Given the description of an element on the screen output the (x, y) to click on. 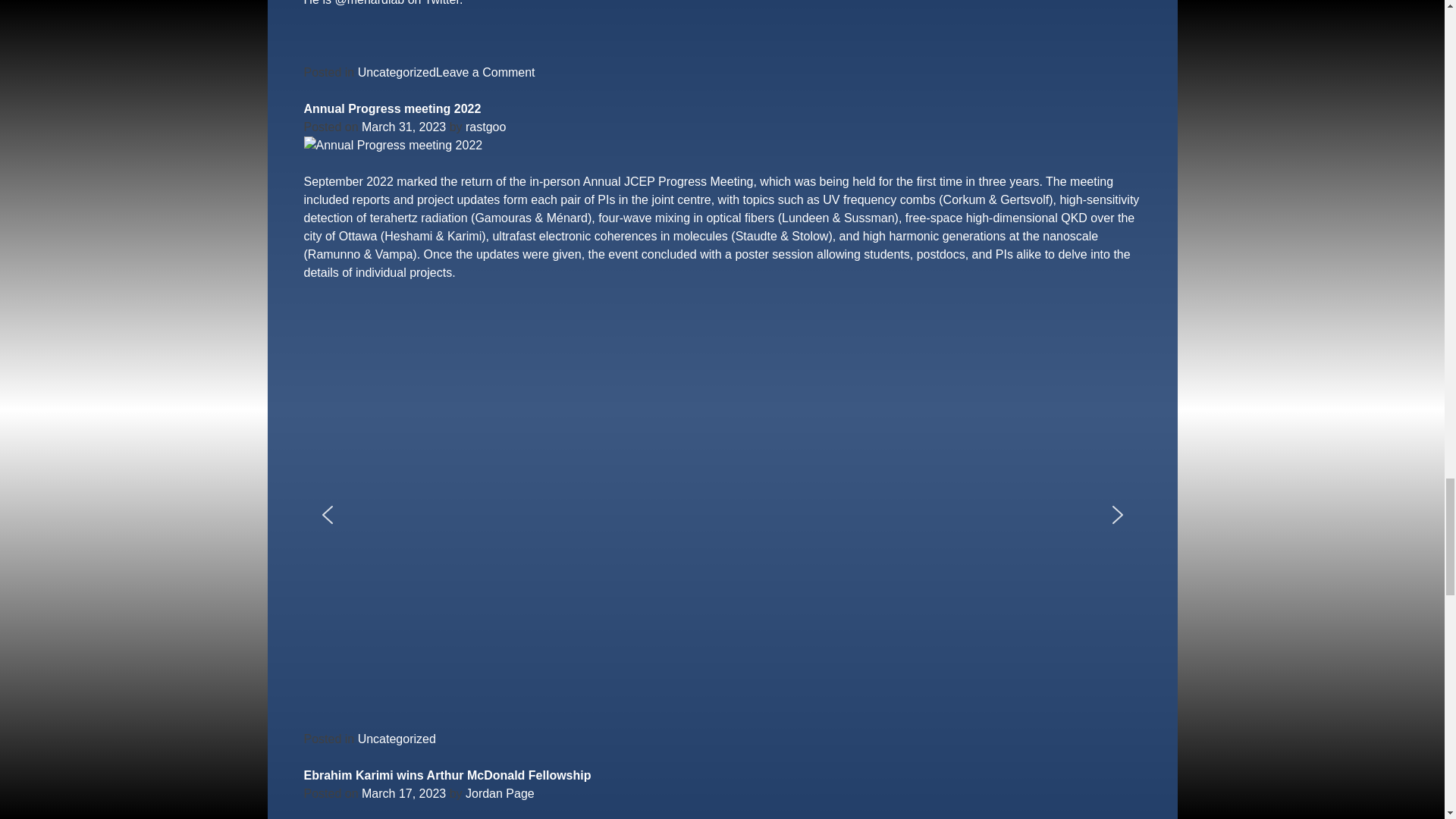
Annual Progress meeting 2022 (391, 108)
rastgoo (485, 126)
Uncategorized (396, 72)
March 31, 2023 (403, 126)
